Given the description of an element on the screen output the (x, y) to click on. 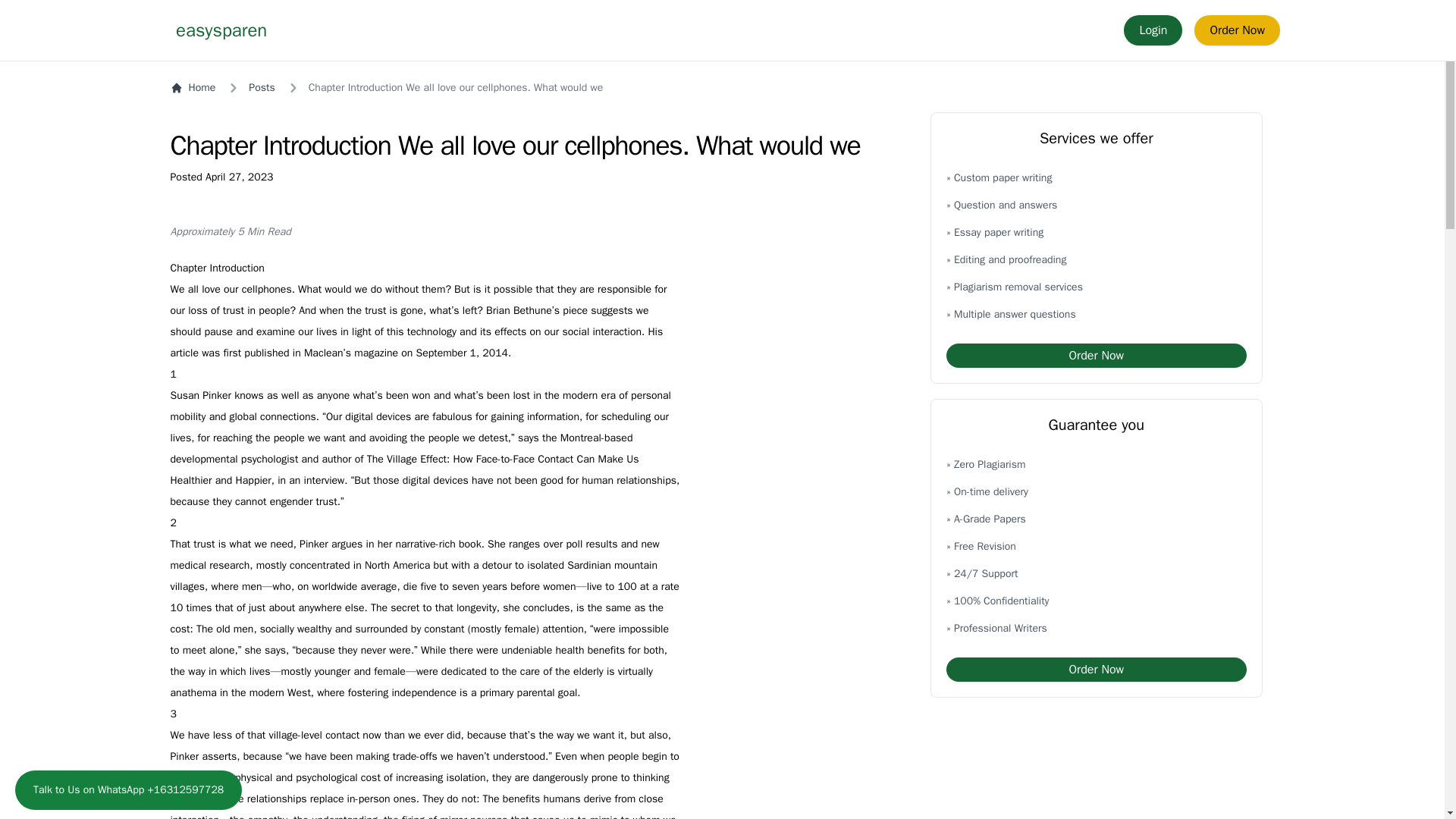
Order Now (1096, 669)
Order Now (1236, 30)
Home (192, 87)
Posts (261, 87)
Order Now (1096, 355)
easysparen (221, 30)
Login (1153, 30)
